Given the description of an element on the screen output the (x, y) to click on. 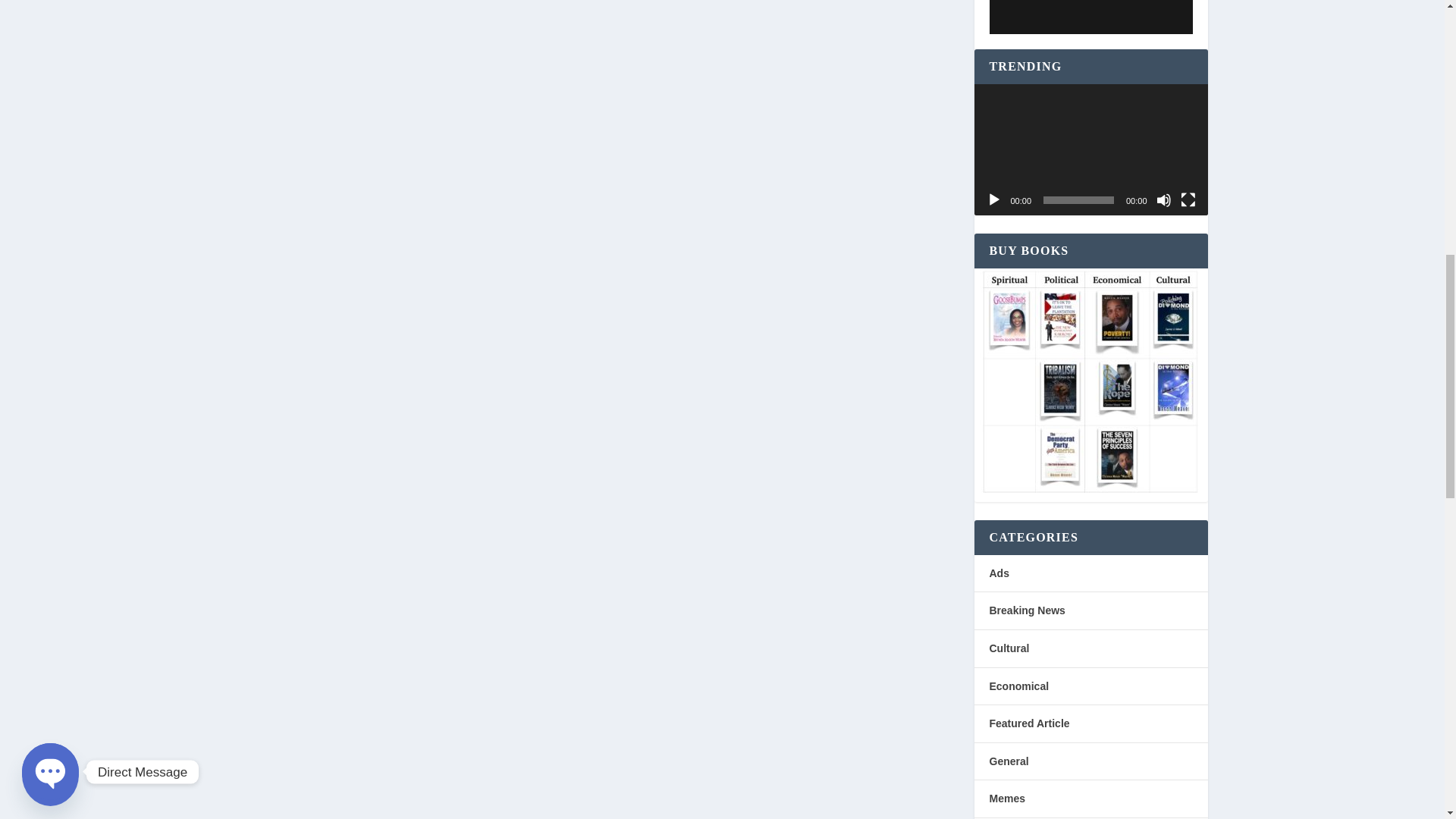
Fullscreen (1187, 200)
Mute (1163, 200)
Play (993, 200)
Buy Books (1087, 382)
